Given the description of an element on the screen output the (x, y) to click on. 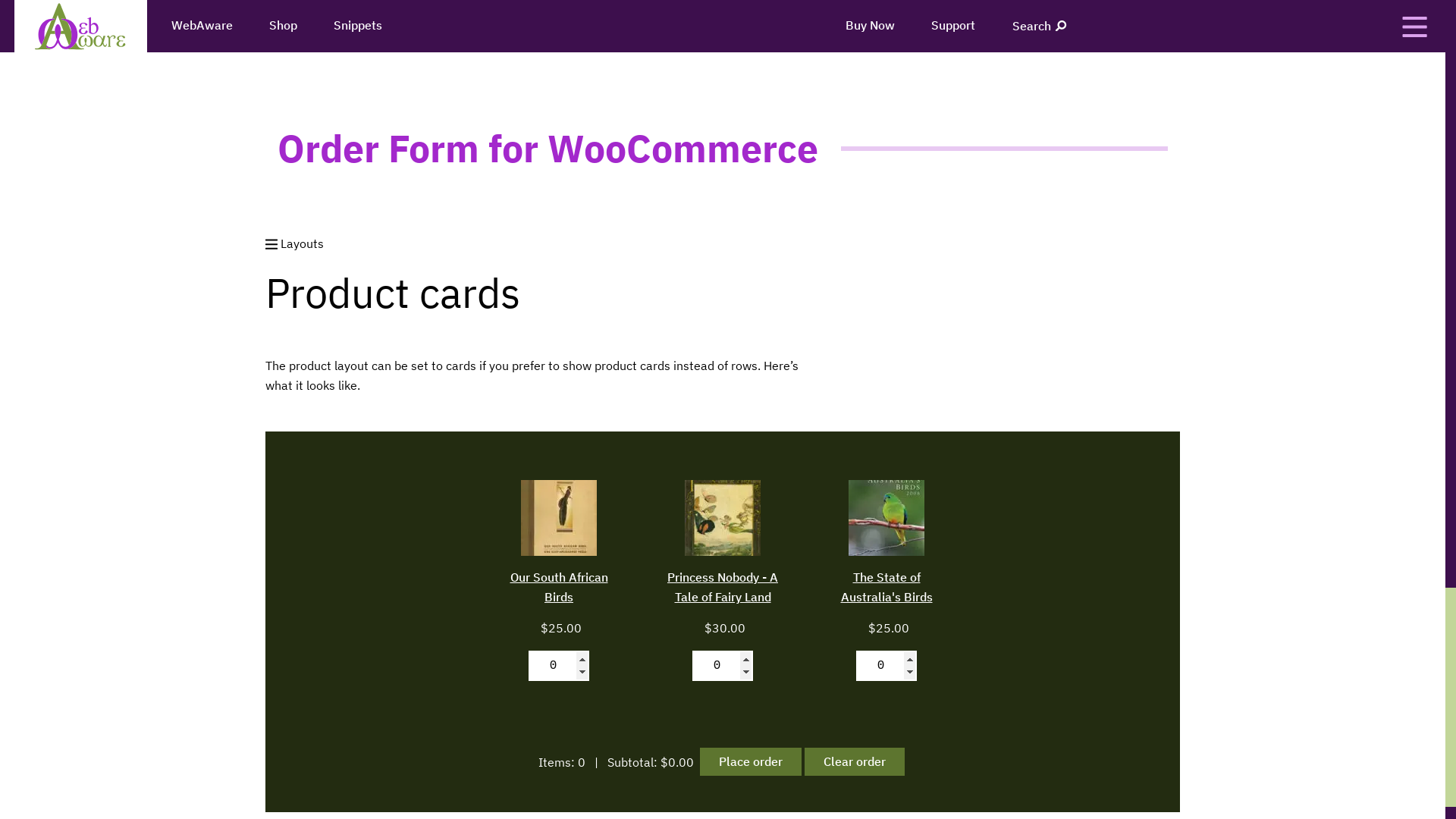
WebAware Element type: text (202, 25)
Support Element type: text (953, 25)
Place order Element type: text (749, 761)
Buy Now Element type: text (870, 25)
Clear order Element type: text (853, 761)
Shop Element type: text (283, 25)
The State of Australia's Birds Element type: text (886, 586)
Search Element type: text (1039, 26)
Our South African Birds Element type: text (558, 586)
Snippets Element type: text (357, 25)
Princess Nobody - A Tale of Fairy Land Element type: text (722, 586)
